Given the description of an element on the screen output the (x, y) to click on. 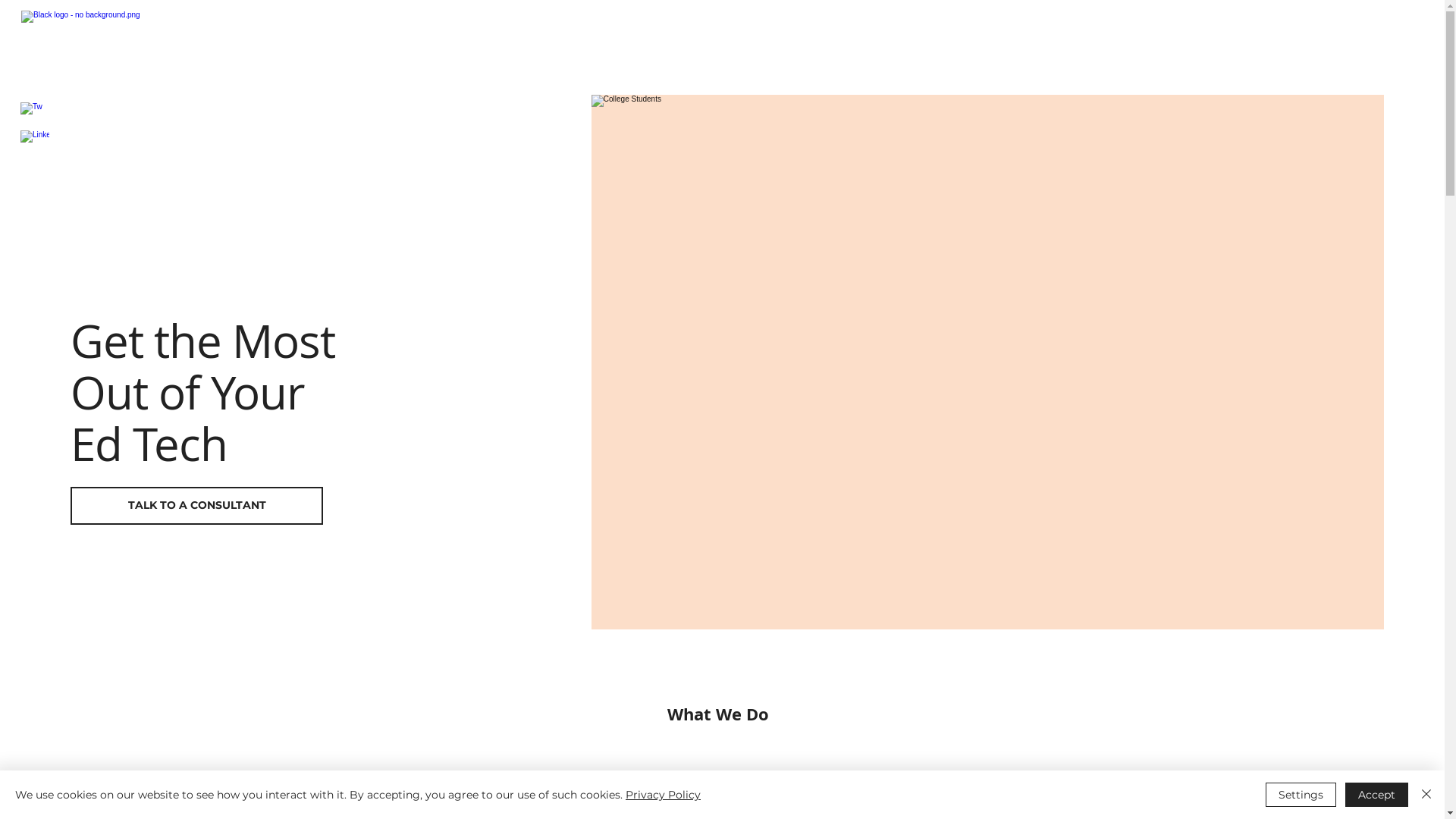
Settings Element type: text (1300, 794)
Privacy Policy Element type: text (662, 794)
TALK TO A CONSULTANT Element type: text (196, 505)
Accept Element type: text (1376, 794)
